Given the description of an element on the screen output the (x, y) to click on. 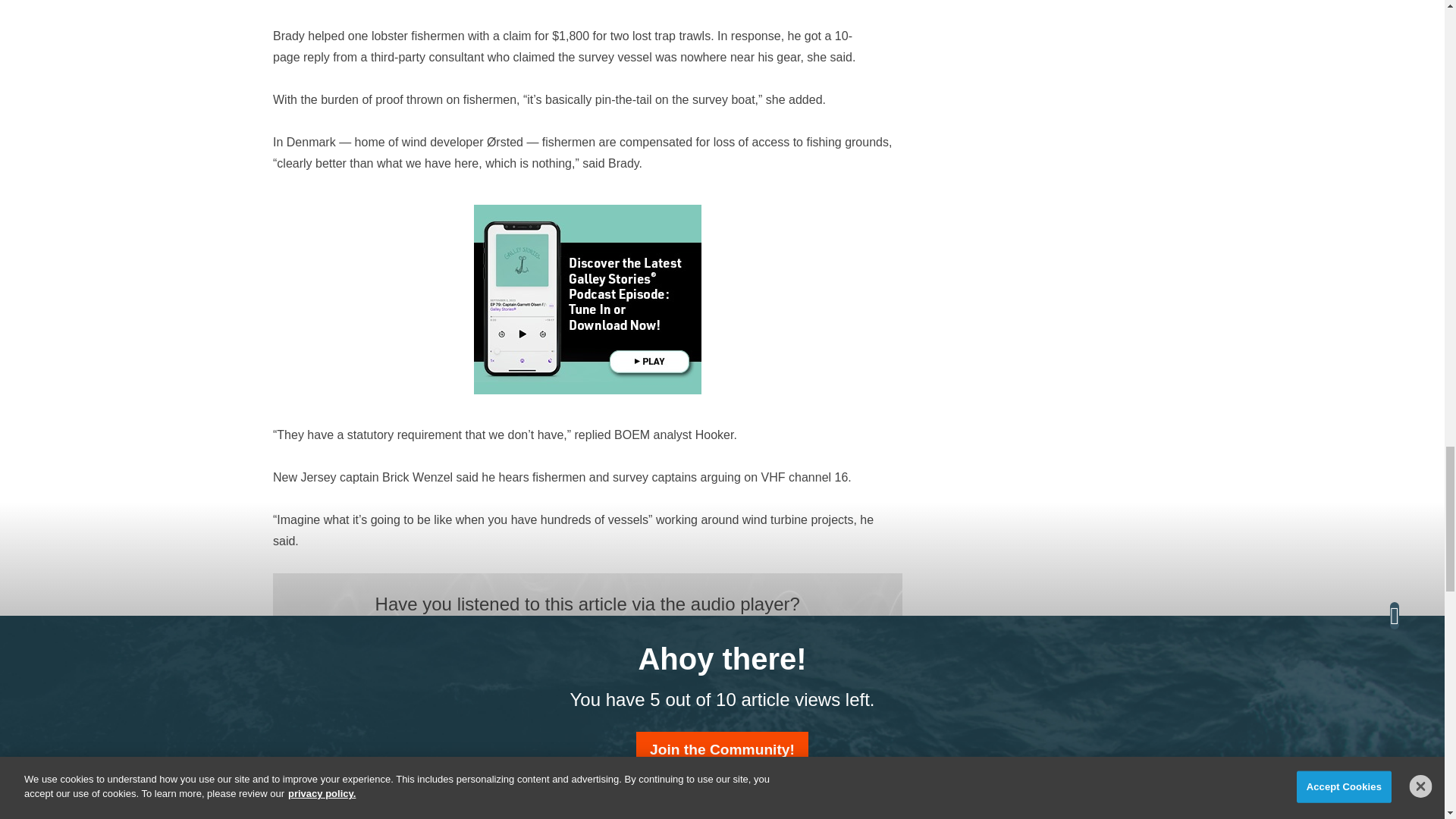
Connect with us on LinkedIn (600, 676)
Email Us (574, 676)
